Given the description of an element on the screen output the (x, y) to click on. 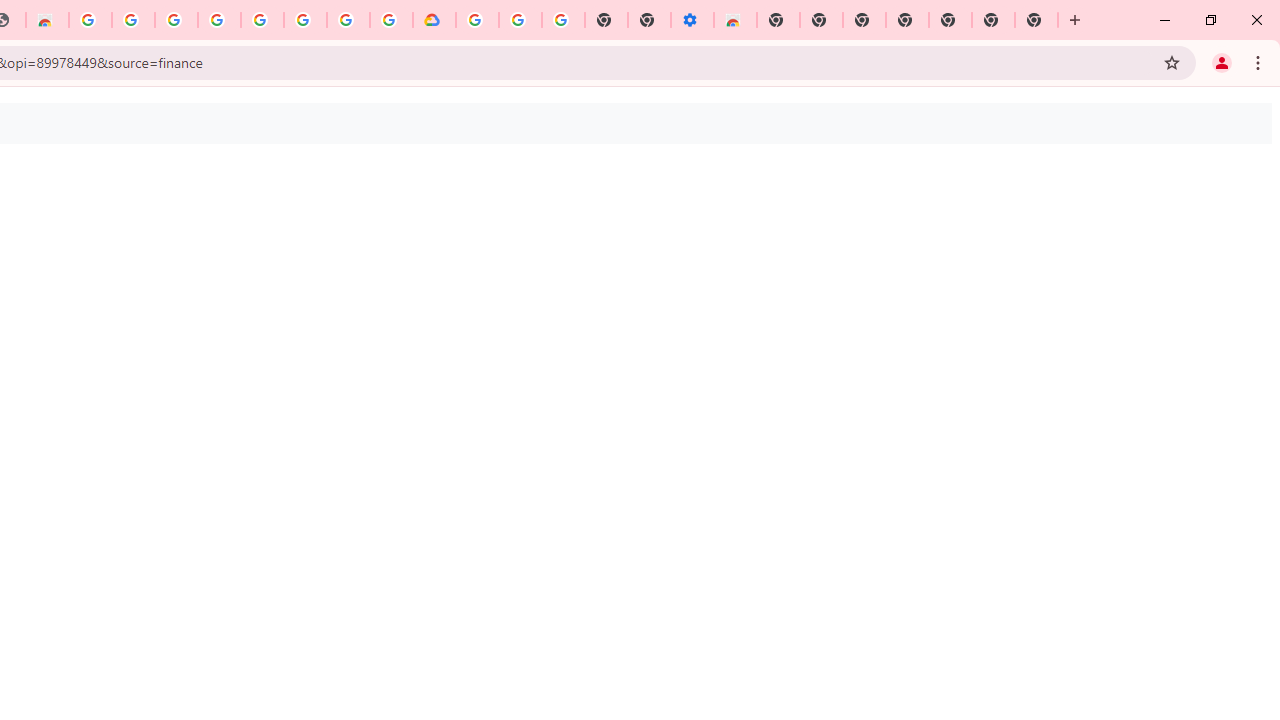
Sign in - Google Accounts (219, 20)
Create your Google Account (347, 20)
New Tab (1036, 20)
Google Account Help (520, 20)
Google Account Help (262, 20)
Sign in - Google Accounts (477, 20)
Settings - Accessibility (692, 20)
